Given the description of an element on the screen output the (x, y) to click on. 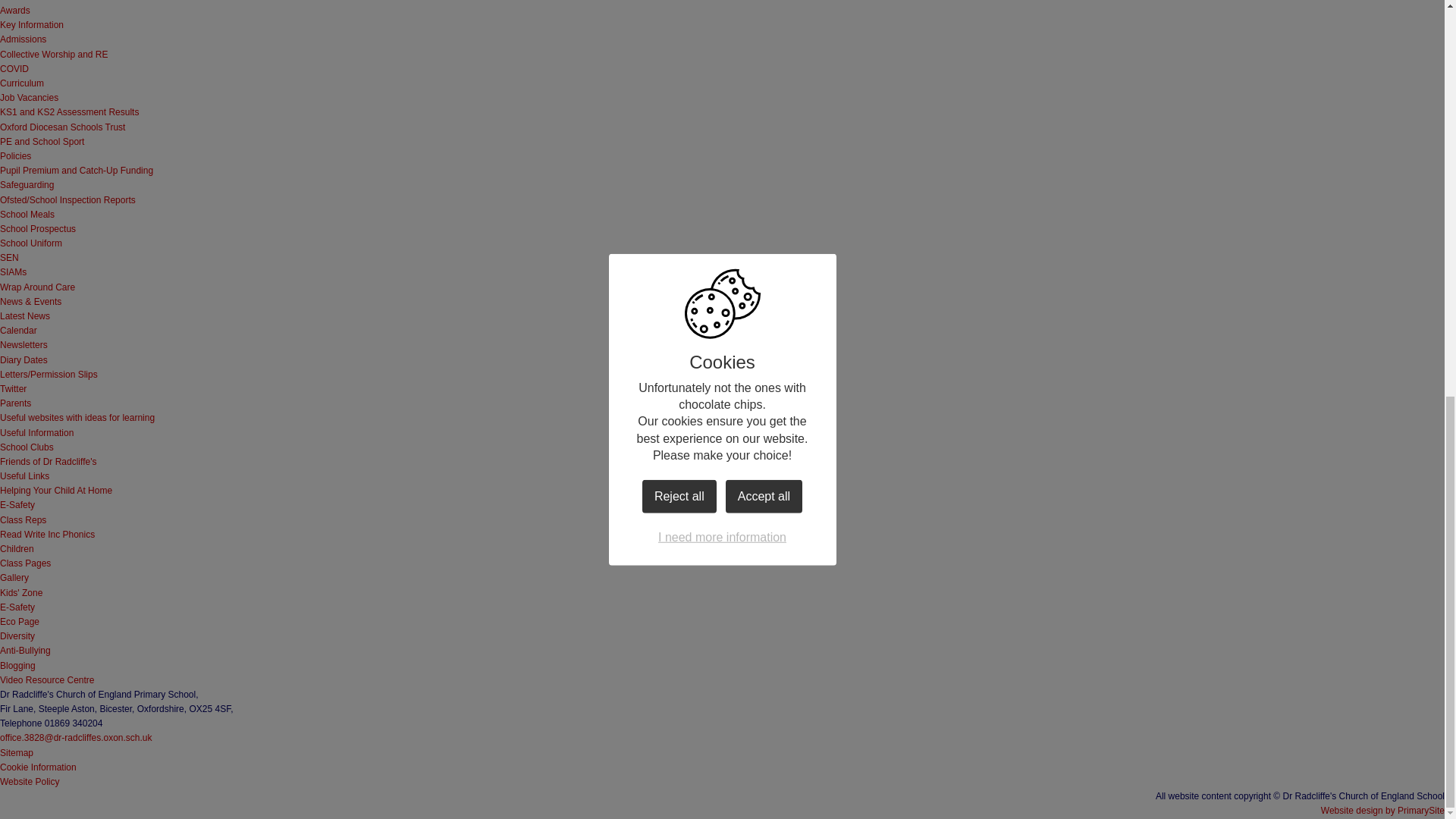
Curriculum (21, 82)
Collective Worship and RE (53, 54)
Job Vacancies (29, 97)
Calendar (18, 330)
Awards (15, 9)
PE and School Sport (42, 141)
Latest News (24, 316)
Pupil Premium and Catch-Up Funding (76, 170)
School Prospectus (37, 228)
School Meals (27, 214)
SIAMs (13, 271)
Wrap Around Care (37, 286)
Key Information (32, 24)
Oxford Diocesan Schools Trust (62, 127)
KS1 and KS2 Assessment Results (69, 112)
